Given the description of an element on the screen output the (x, y) to click on. 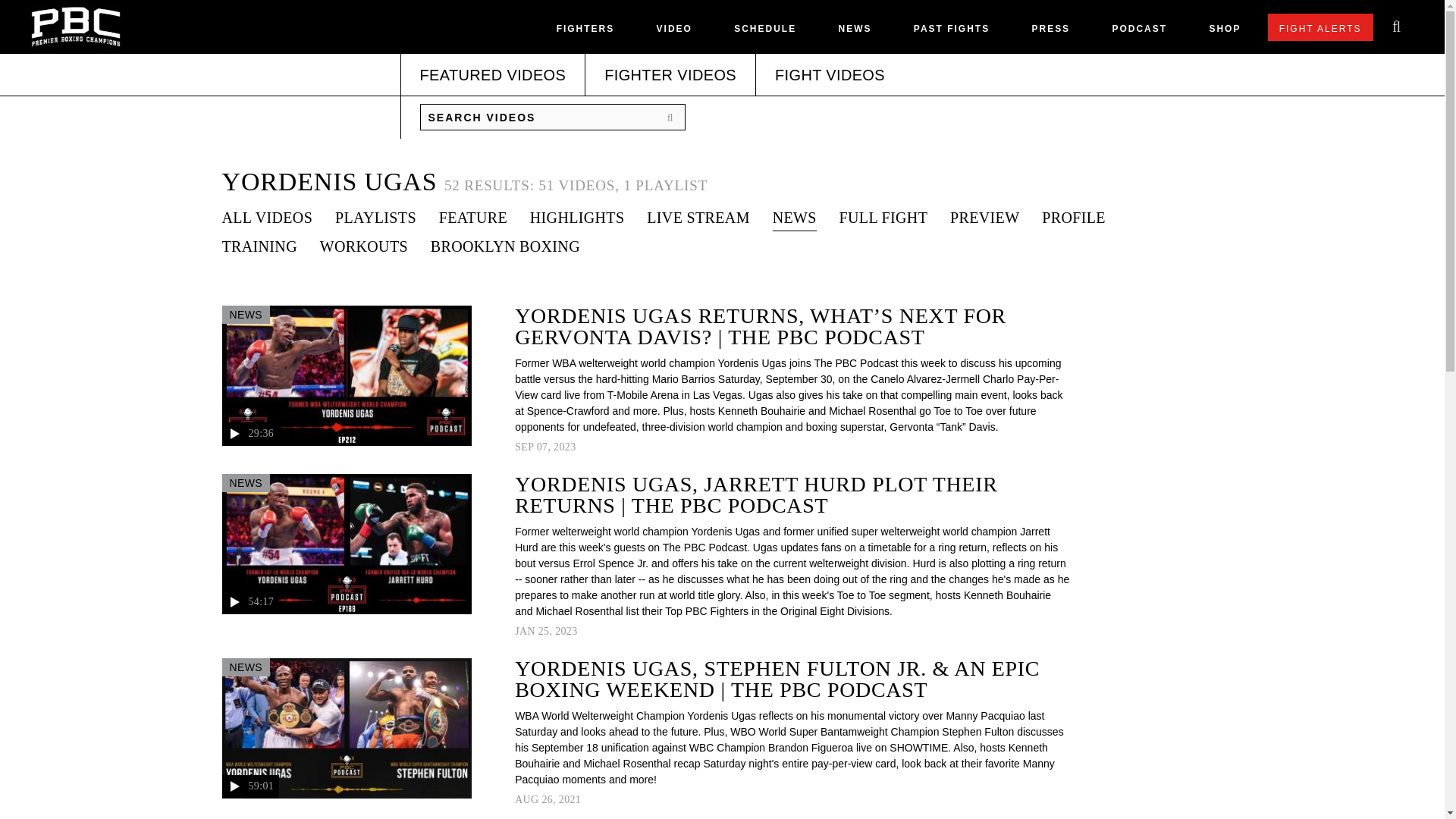
NEWS (854, 31)
FEATURED VIDEOS (492, 75)
FIGHTERS (585, 31)
SHOP (1224, 31)
September (524, 446)
FIGHT VIDEOS (829, 75)
FIGHT ALERTS (1320, 27)
FIGHTER VIDEOS (670, 75)
Search (673, 117)
SCHEDULE (764, 31)
PRESS (1050, 31)
PAST FIGHTS (952, 31)
PODCAST (1139, 31)
VIDEO (674, 31)
January (525, 631)
